Given the description of an element on the screen output the (x, y) to click on. 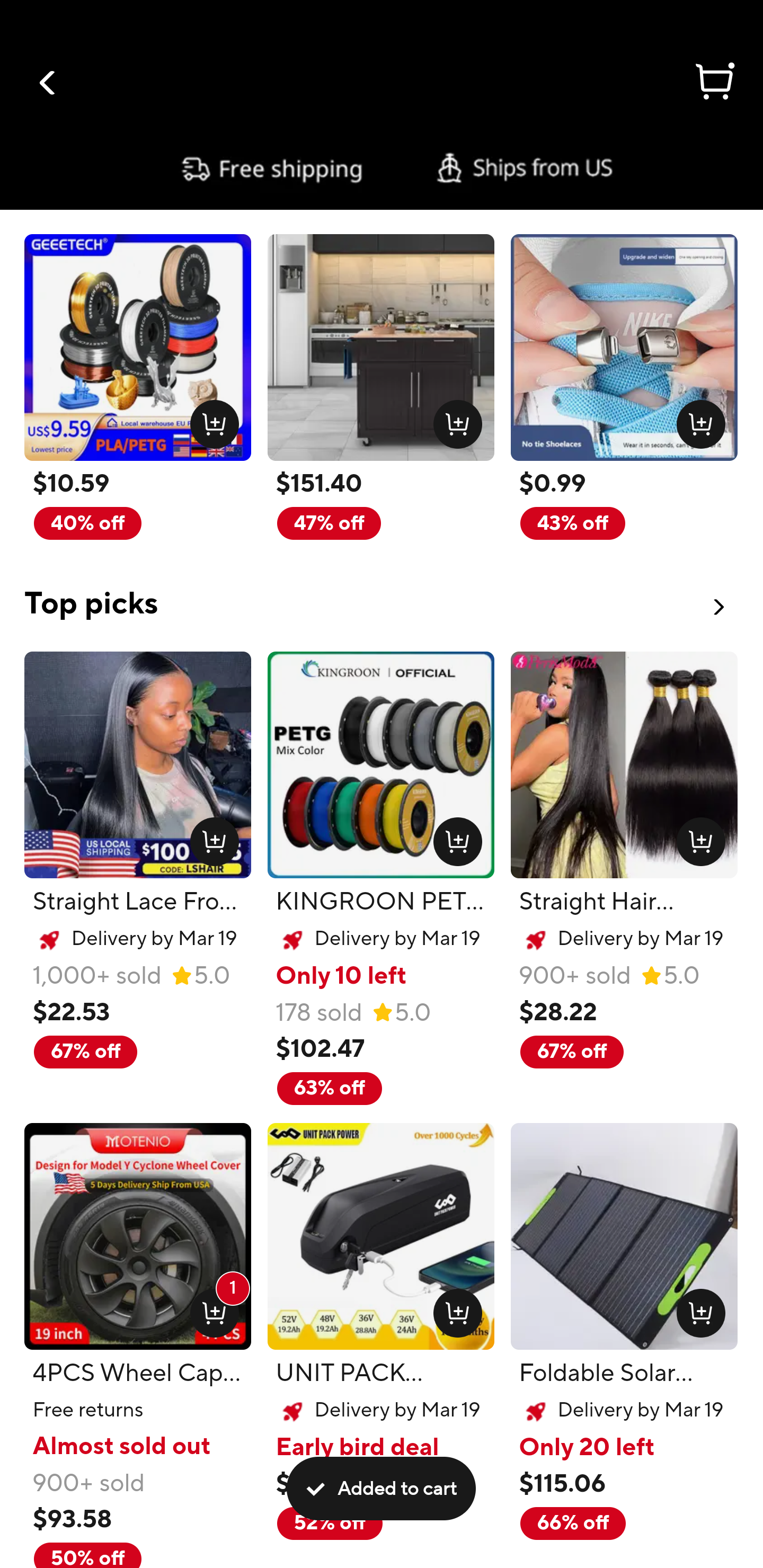
 (48, 82)
𓟄 (713, 83)
c3QEEjteiC&spm=a1z65.tm1000004905.1841234120 (381, 168)
128x128.png_ (210, 418)
128x128.png_ (453, 418)
128x128.png_ (695, 418)
Top picks  Top picks (381, 592)
128x128.png_ (210, 837)
128x128.png_ (453, 837)
128x128.png_ (695, 837)
1 128x128.png_ (210, 1309)
128x128.png_ (453, 1309)
128x128.png_ (695, 1309)
￼   Added to cart (381, 1488)
